Given the description of an element on the screen output the (x, y) to click on. 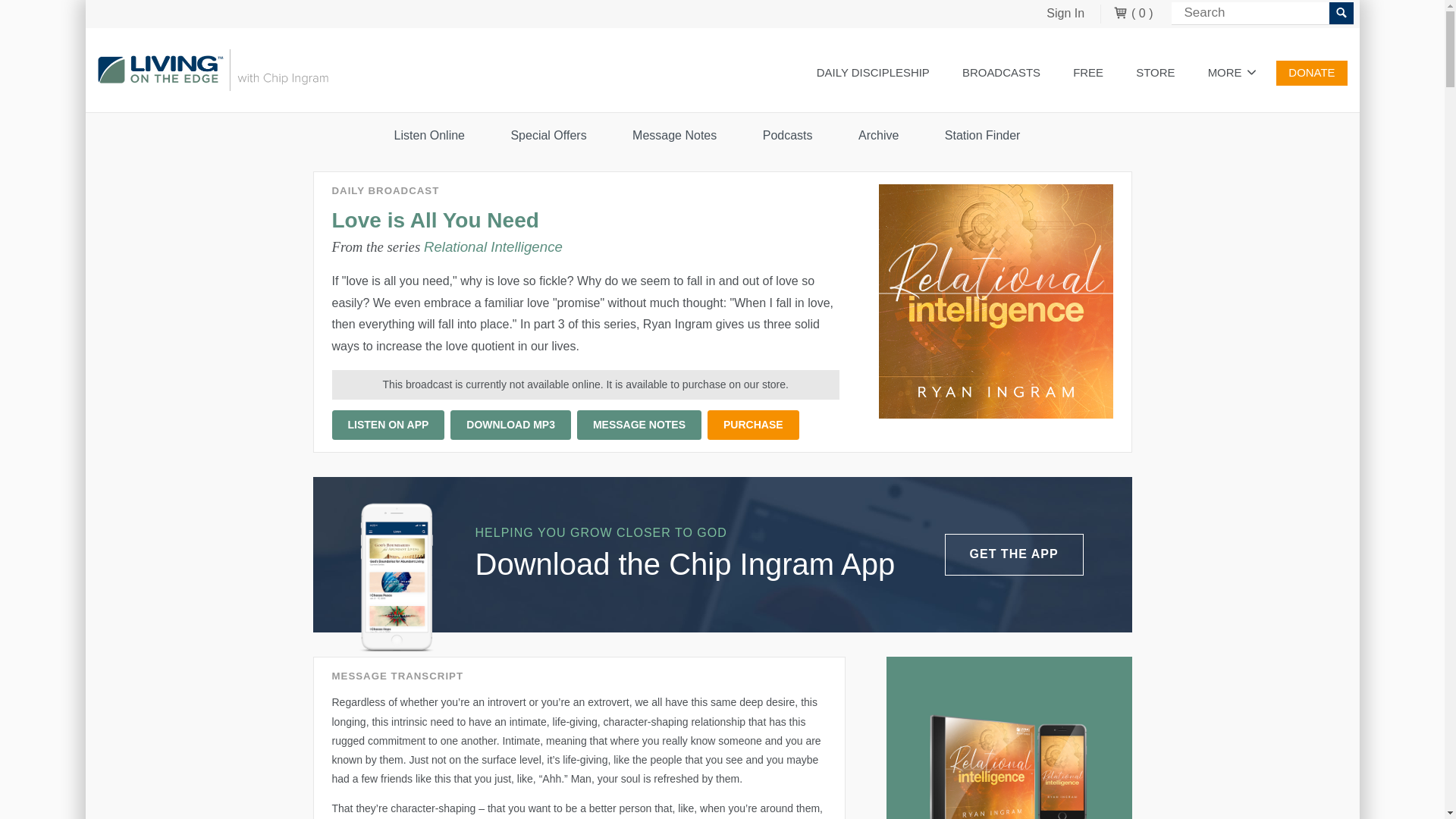
DAILY DISCIPLESHIP (873, 73)
View your shopping cart (1133, 13)
Sign In (1064, 13)
MORE (1231, 73)
Store (1155, 73)
STORE (1155, 73)
FREE (1088, 73)
Listen Online (1001, 73)
Search for: (1261, 13)
DONATE (1311, 72)
BROADCASTS (1001, 73)
Living on the Edge (212, 69)
Free Resources (1088, 73)
More (1231, 73)
